Given the description of an element on the screen output the (x, y) to click on. 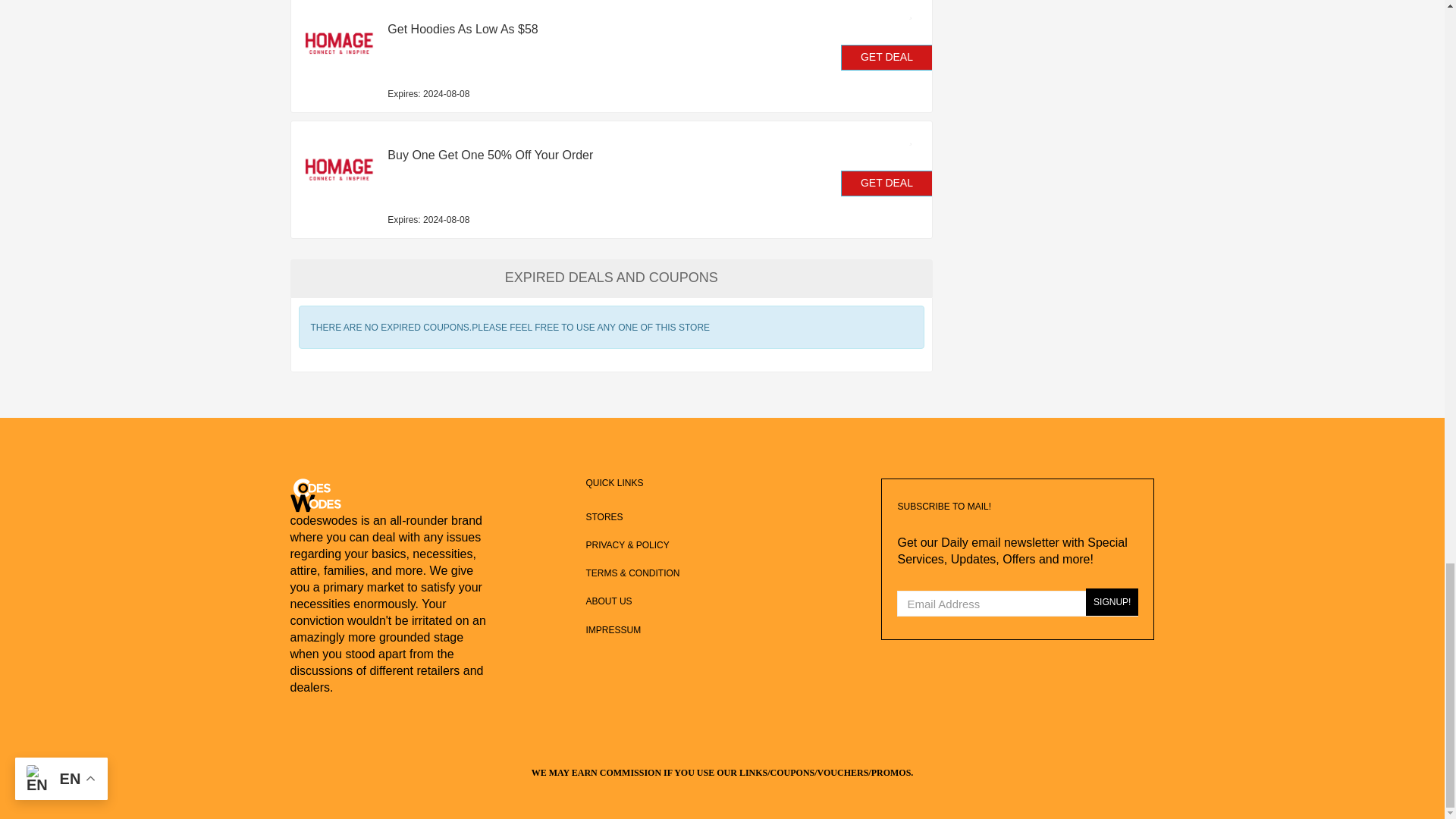
GET DEAL (887, 57)
GET DEAL (887, 183)
